Given the description of an element on the screen output the (x, y) to click on. 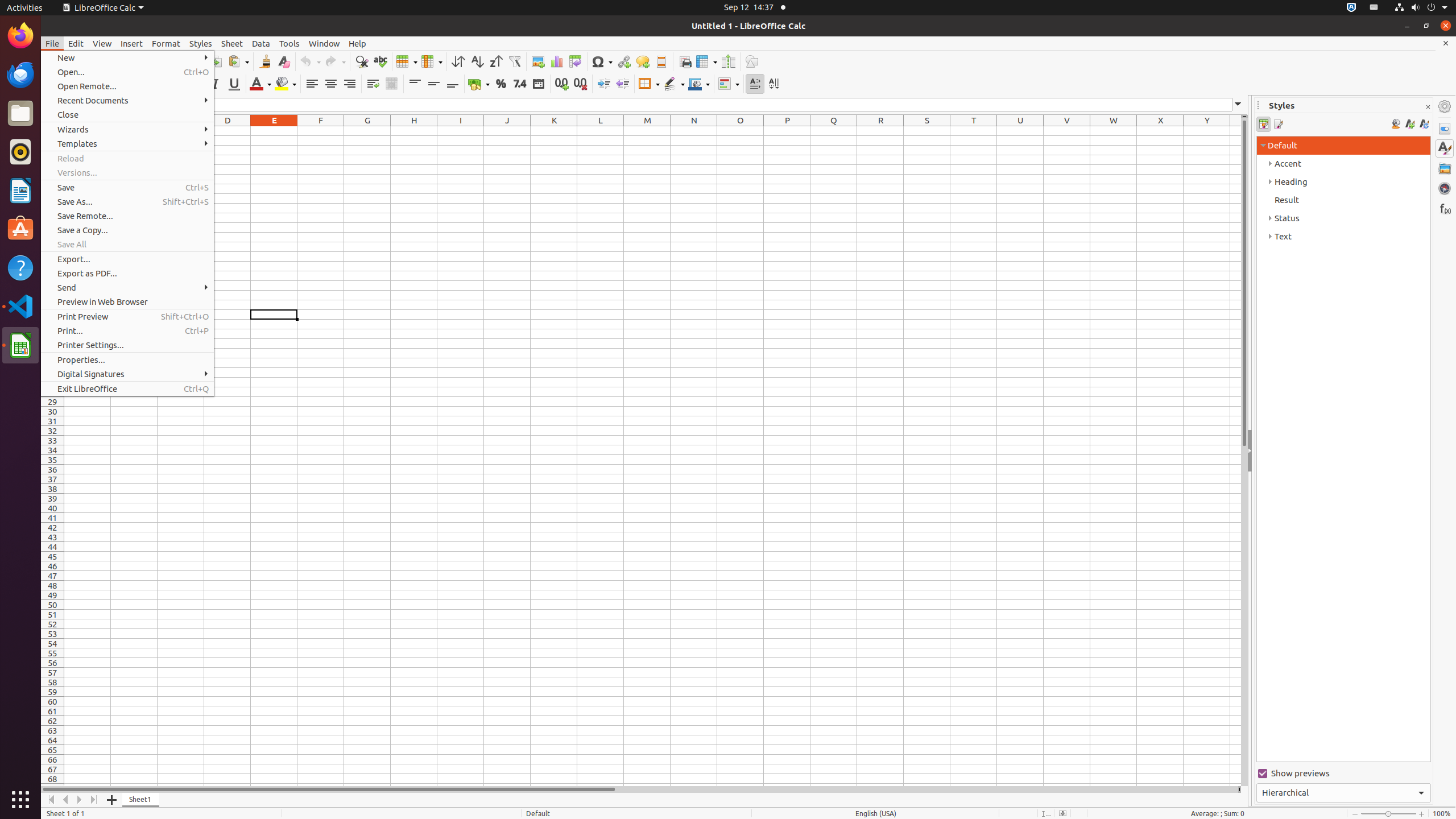
Symbol Element type: push-button (601, 61)
AutoFilter Element type: push-button (514, 61)
Show Applications Element type: toggle-button (20, 799)
Center Vertically Element type: push-button (433, 83)
Align Bottom Element type: push-button (452, 83)
